Given the description of an element on the screen output the (x, y) to click on. 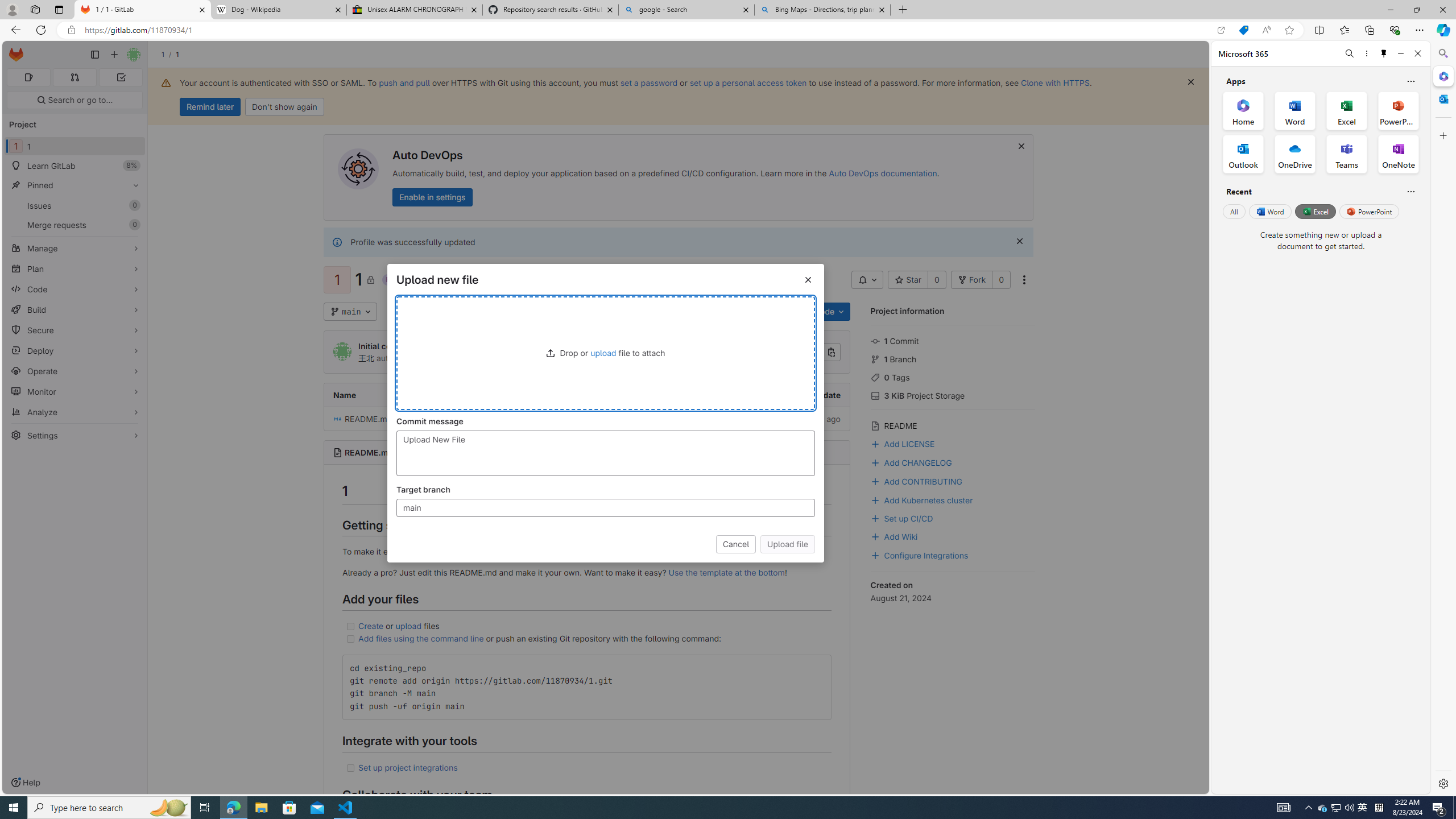
Home Office App (1243, 110)
Class: btn btn-default btn-md gl-button btn-icon has-tooltip (818, 667)
1 Commit (952, 340)
README.md (411, 418)
1/ (168, 53)
main (350, 311)
Class: s16 gl-blue-500! gl-mr-3 (874, 555)
Class: s16 gl-mr-3 (874, 536)
Add CONTRIBUTING (916, 480)
Monitor (74, 391)
